Given the description of an element on the screen output the (x, y) to click on. 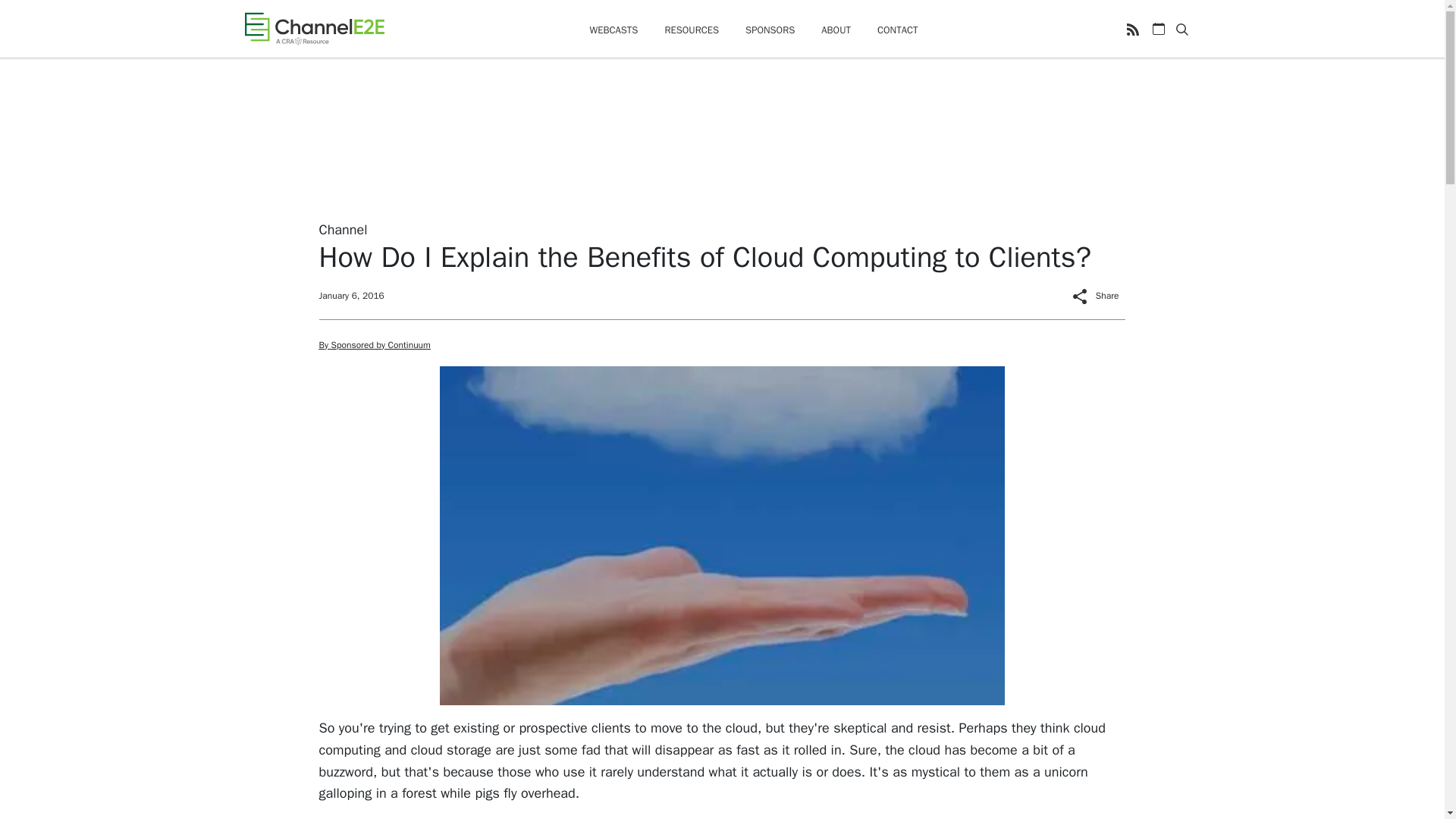
SPONSORS (769, 30)
ABOUT (835, 30)
WEBCASTS (613, 30)
CONTACT (897, 30)
View Cybersecurity Conference Calendar (1158, 28)
ChannelE2E (314, 27)
Channel (342, 229)
By Sponsored by Continuum (373, 345)
RESOURCES (691, 30)
